Given the description of an element on the screen output the (x, y) to click on. 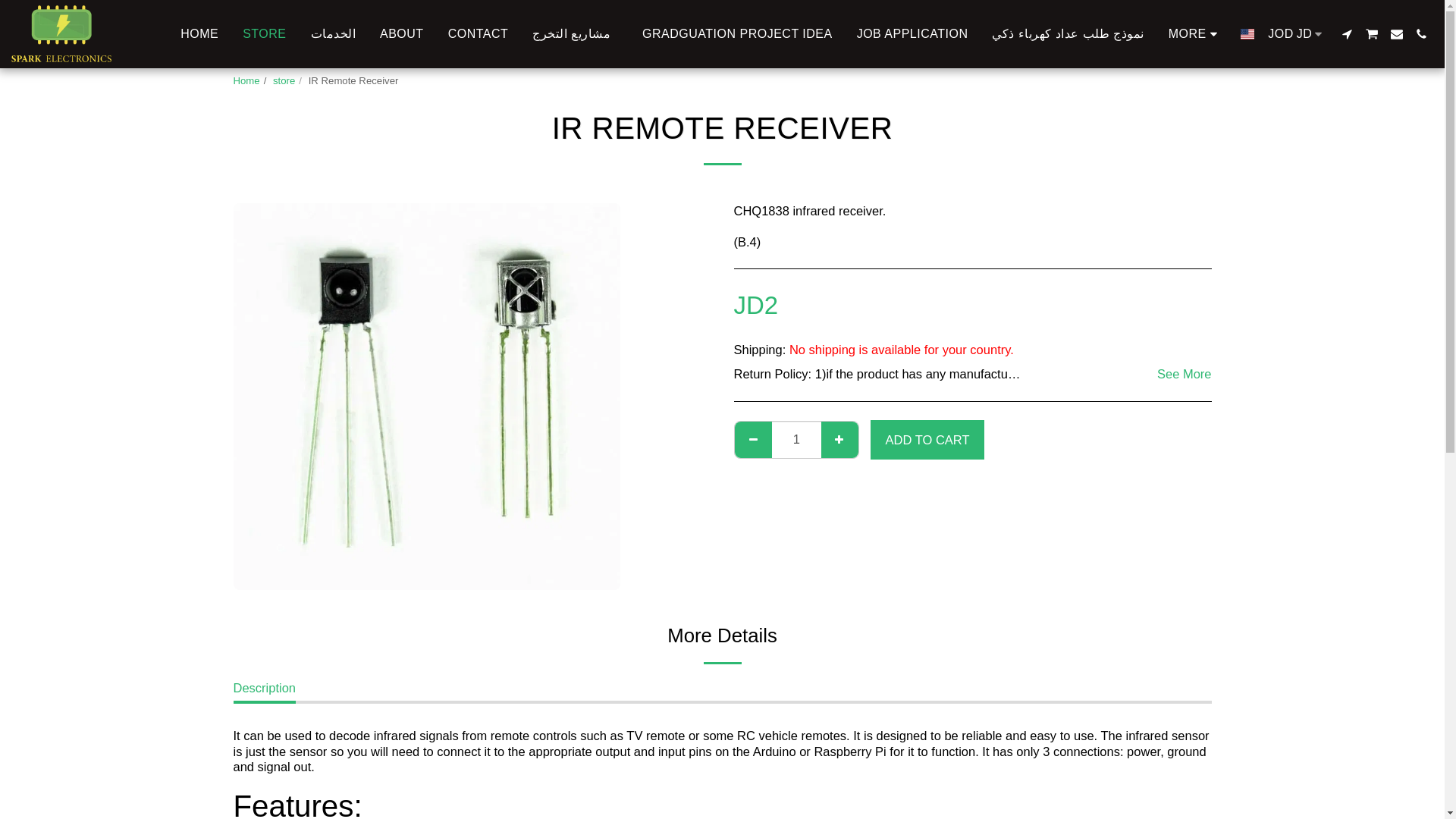
STORE (264, 33)
JOB APPLICATION (1296, 33)
MORE   (912, 33)
See More (1195, 33)
store (1184, 374)
GRADGUATION PROJECT IDEA (284, 80)
